Given the description of an element on the screen output the (x, y) to click on. 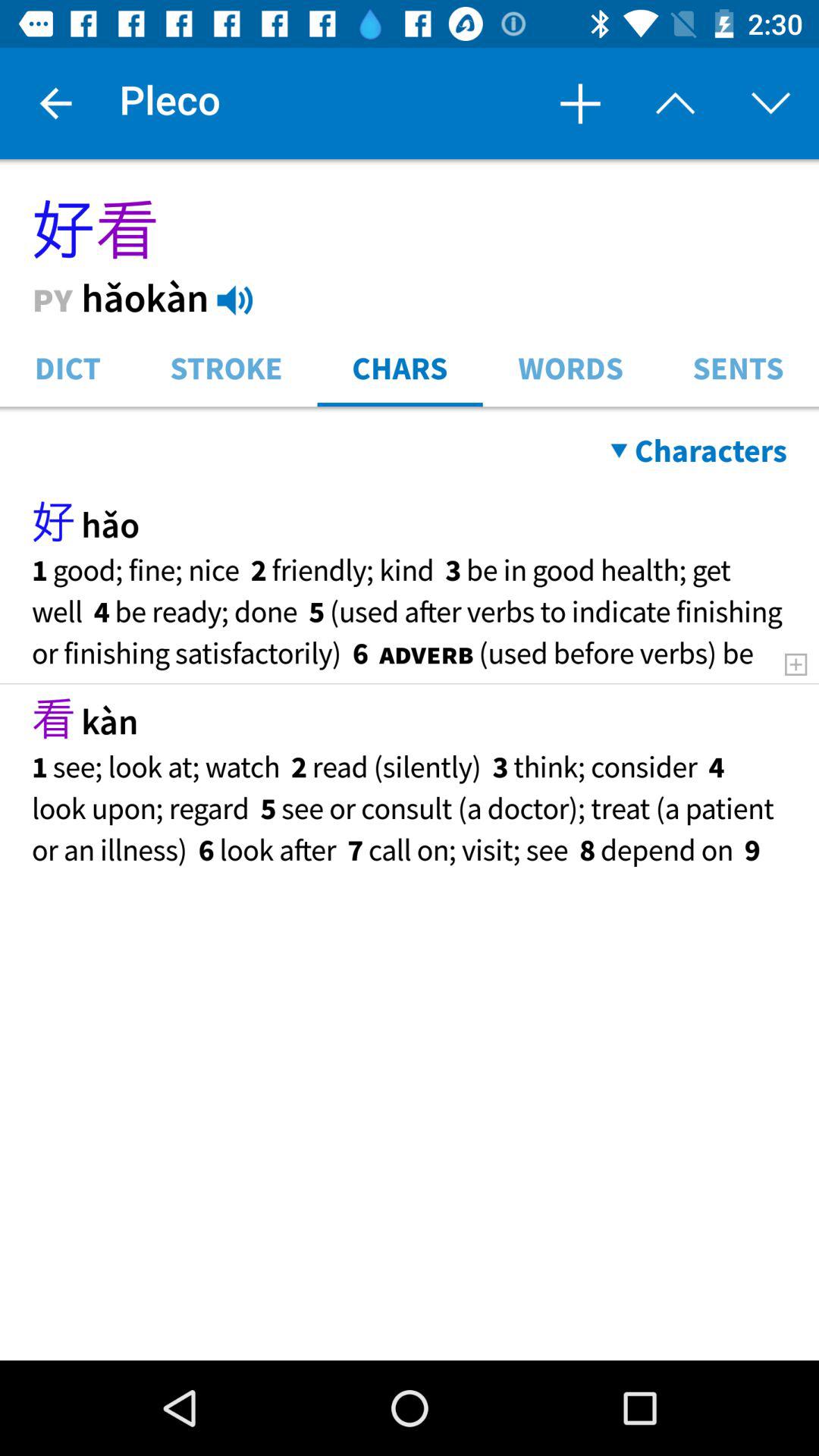
choose item next to pleco item (579, 103)
